Given the description of an element on the screen output the (x, y) to click on. 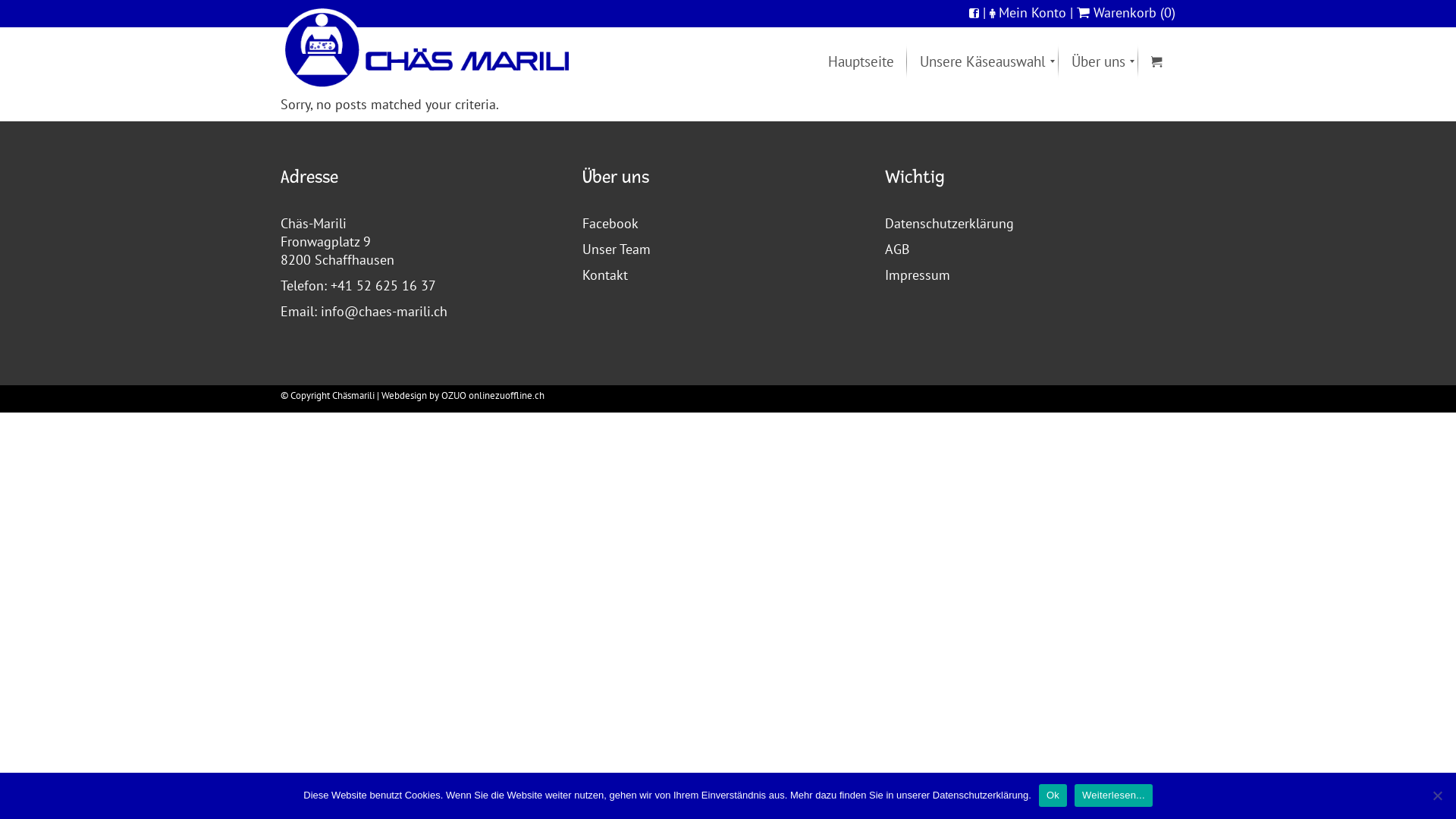
Impressum Element type: text (917, 274)
Facebook Element type: text (610, 223)
Hauptseite Element type: text (860, 61)
Ok Element type: text (1052, 795)
info@chaes-marili.ch Element type: text (383, 311)
Warenkorb (0) Element type: text (1125, 12)
Unser Team Element type: text (616, 248)
AGB Element type: text (897, 248)
Weiterlesen... Element type: text (1113, 795)
onlinezuoffline.ch Element type: text (506, 395)
Mein Konto Element type: text (1032, 12)
Kontakt Element type: text (604, 274)
No Element type: hover (1436, 795)
